Given the description of an element on the screen output the (x, y) to click on. 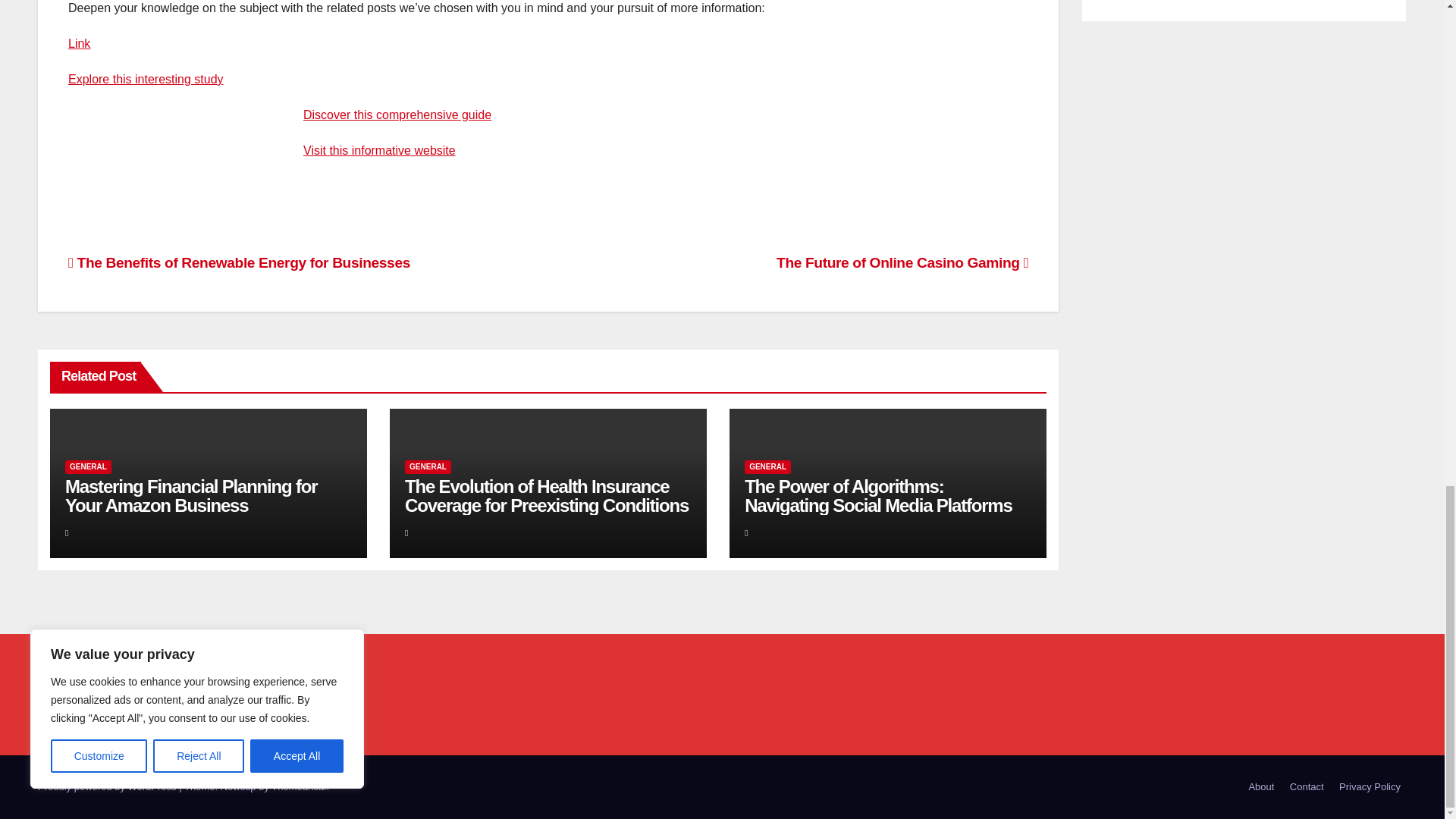
Discover this comprehensive guide (397, 114)
Link (79, 42)
GENERAL (427, 467)
The Future of Online Casino Gaming (901, 262)
Visit this informative website (378, 150)
Explore this interesting study (146, 78)
GENERAL (767, 467)
The Benefits of Renewable Energy for Businesses (239, 262)
About (1260, 786)
Mastering Financial Planning for Your Amazon Business (191, 495)
Contact (1307, 786)
Privacy Policy (1369, 786)
GENERAL (88, 467)
